Given the description of an element on the screen output the (x, y) to click on. 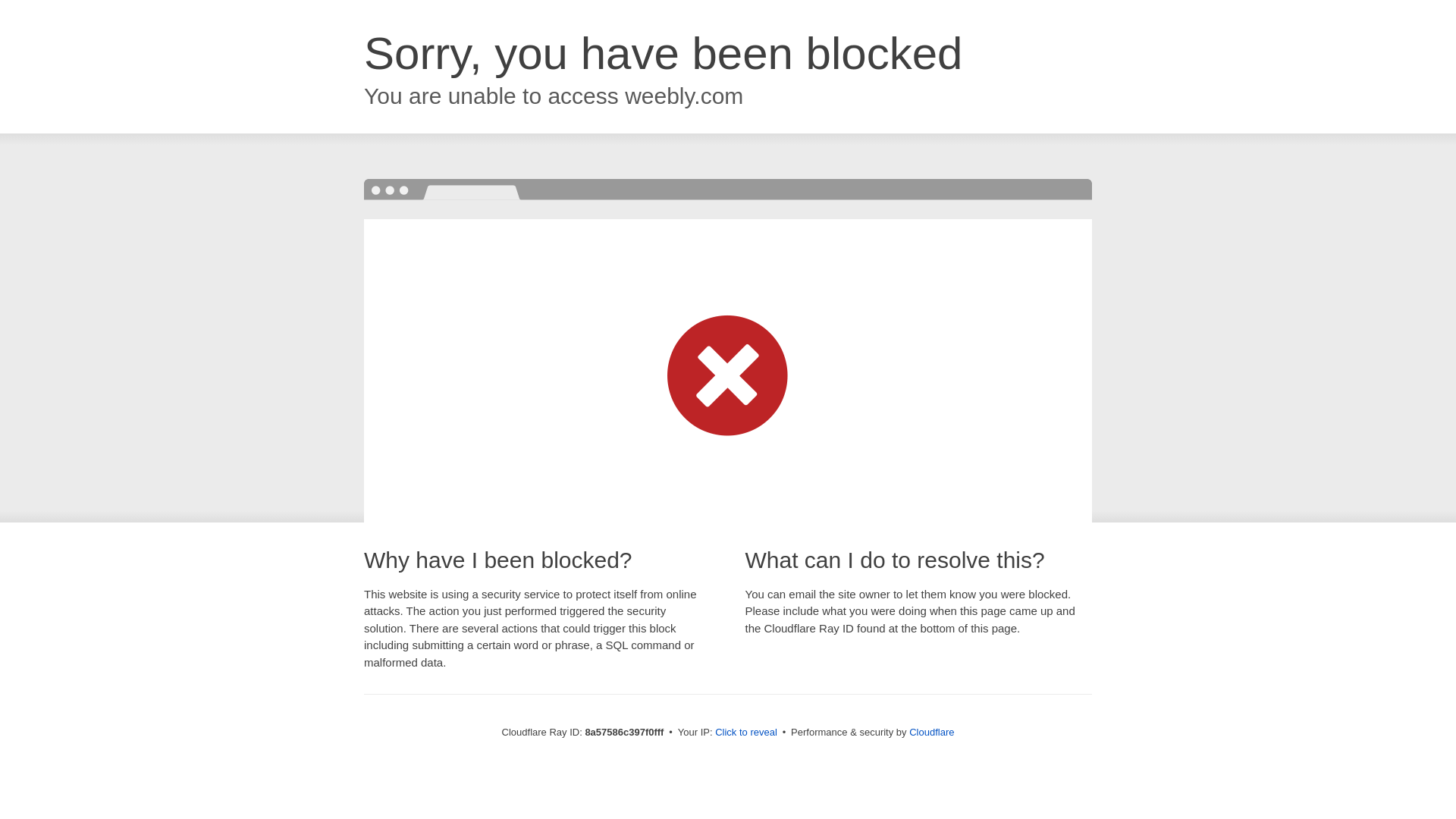
Cloudflare (930, 731)
Click to reveal (745, 732)
